Given the description of an element on the screen output the (x, y) to click on. 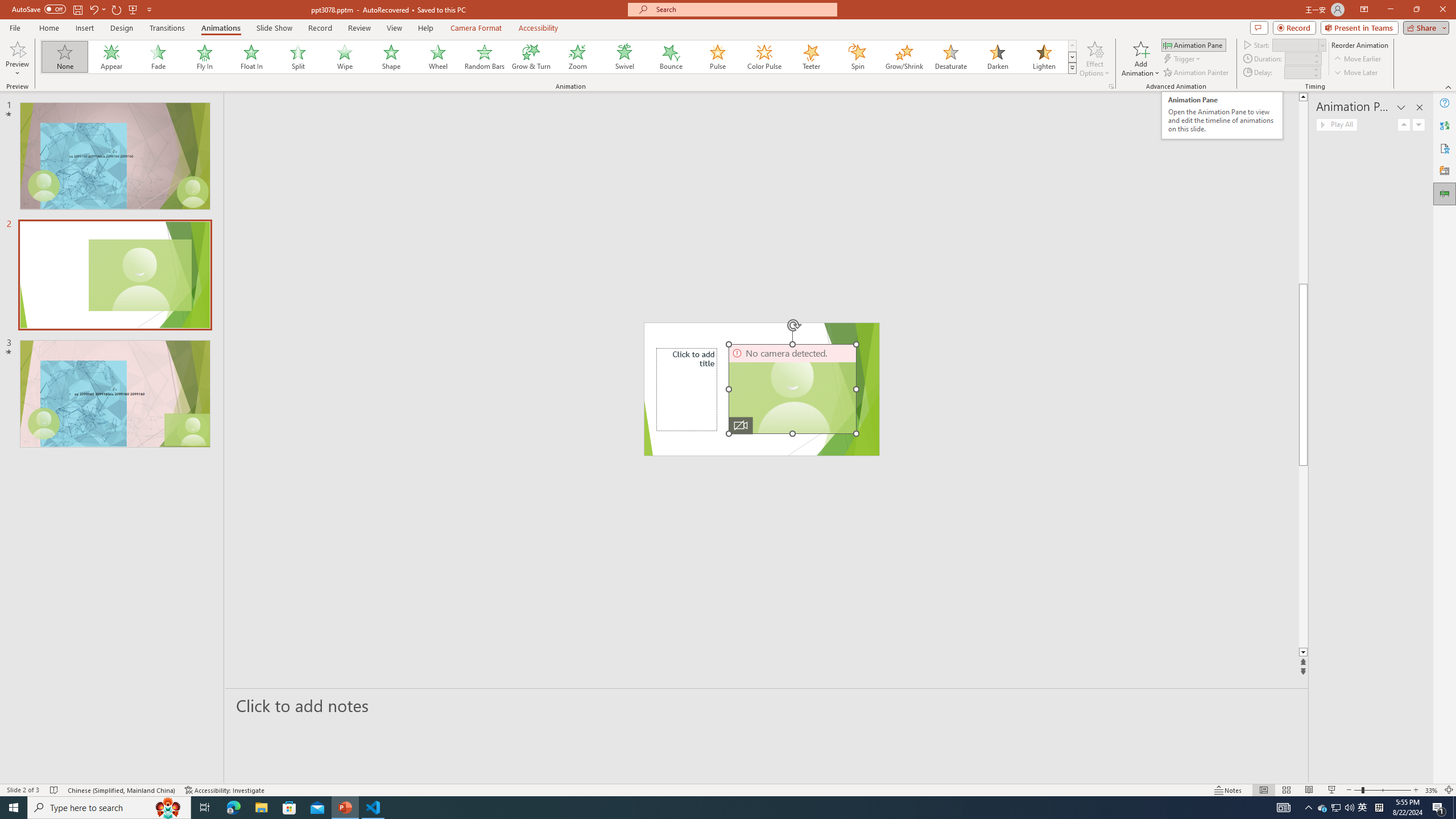
Pulse (717, 56)
Camera Format (475, 28)
Color Pulse (764, 56)
